Given the description of an element on the screen output the (x, y) to click on. 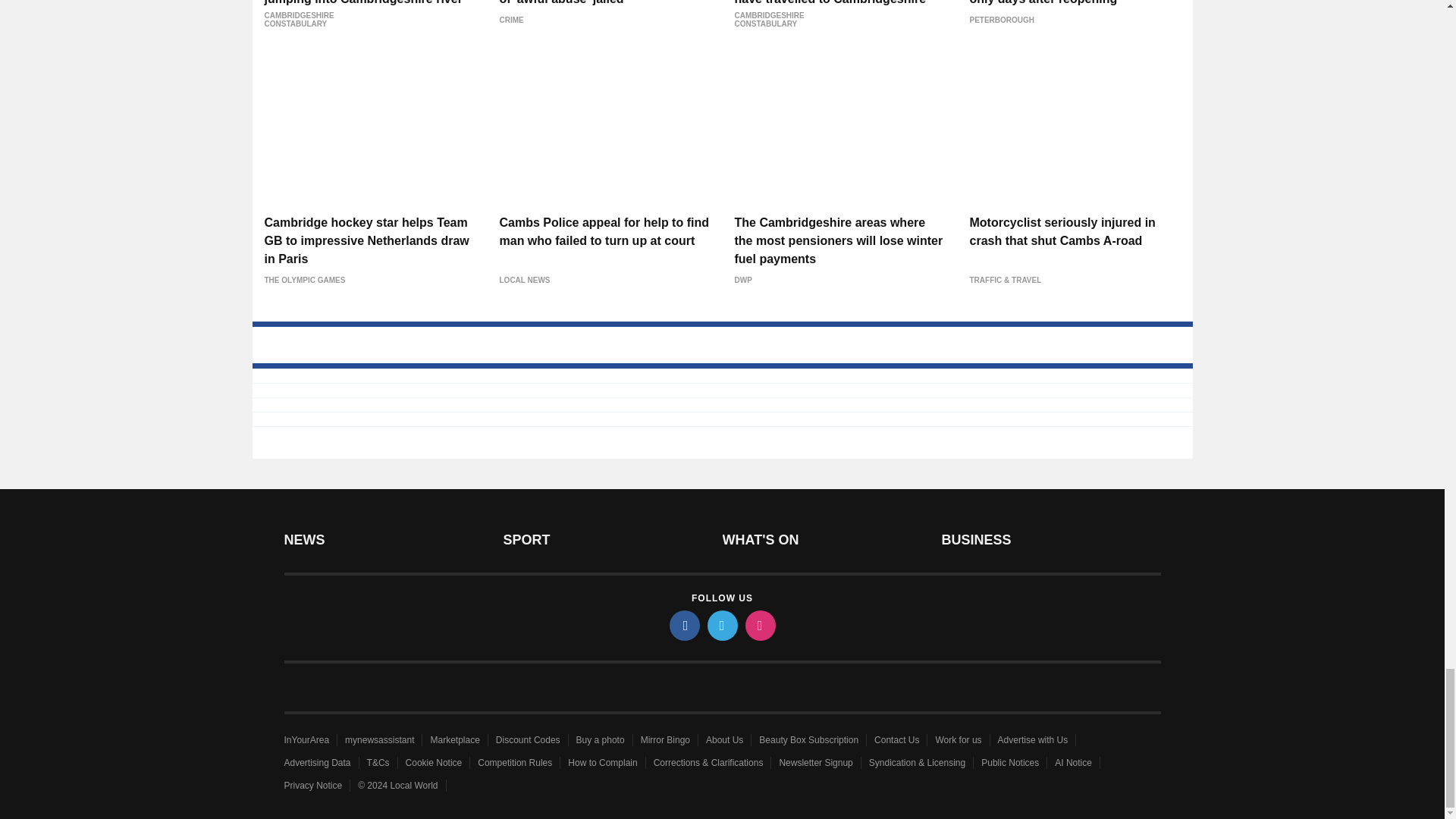
facebook (683, 625)
instagram (759, 625)
twitter (721, 625)
